Given the description of an element on the screen output the (x, y) to click on. 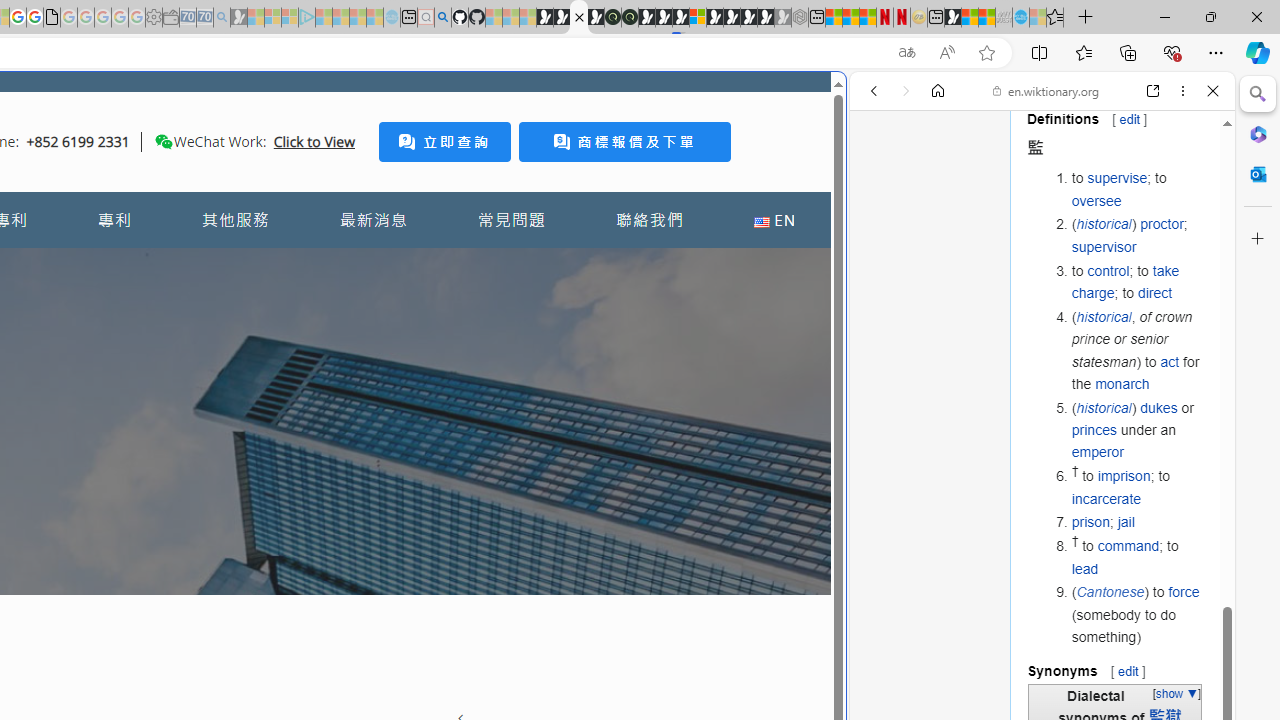
force (1183, 592)
Settings - Sleeping (153, 17)
Favorites (1083, 52)
jail (1126, 522)
oversee (1096, 200)
Class: b_serphb (1190, 229)
Home (938, 91)
Play Cave FRVR in your browser | Games from Microsoft Start (343, 426)
imprison (1123, 476)
Services - Maintenance | Sky Blue Bikes - Sky Blue Bikes (1020, 17)
